Given the description of an element on the screen output the (x, y) to click on. 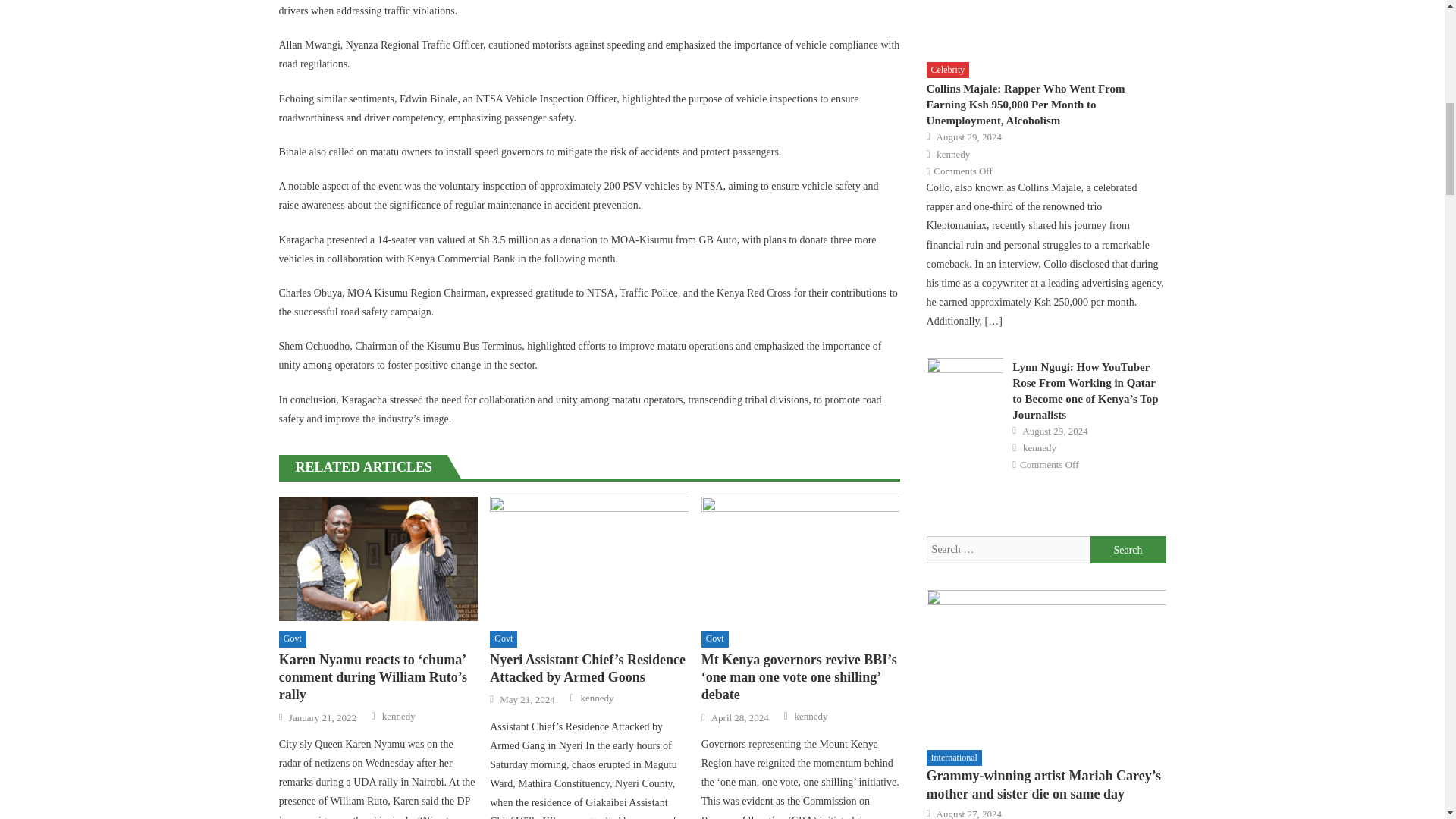
kennedy (397, 716)
Govt (715, 638)
kennedy (811, 716)
kennedy (595, 698)
May 21, 2024 (526, 699)
Govt (292, 638)
January 21, 2022 (322, 717)
Govt (502, 638)
April 28, 2024 (739, 717)
Search (1128, 549)
